Given the description of an element on the screen output the (x, y) to click on. 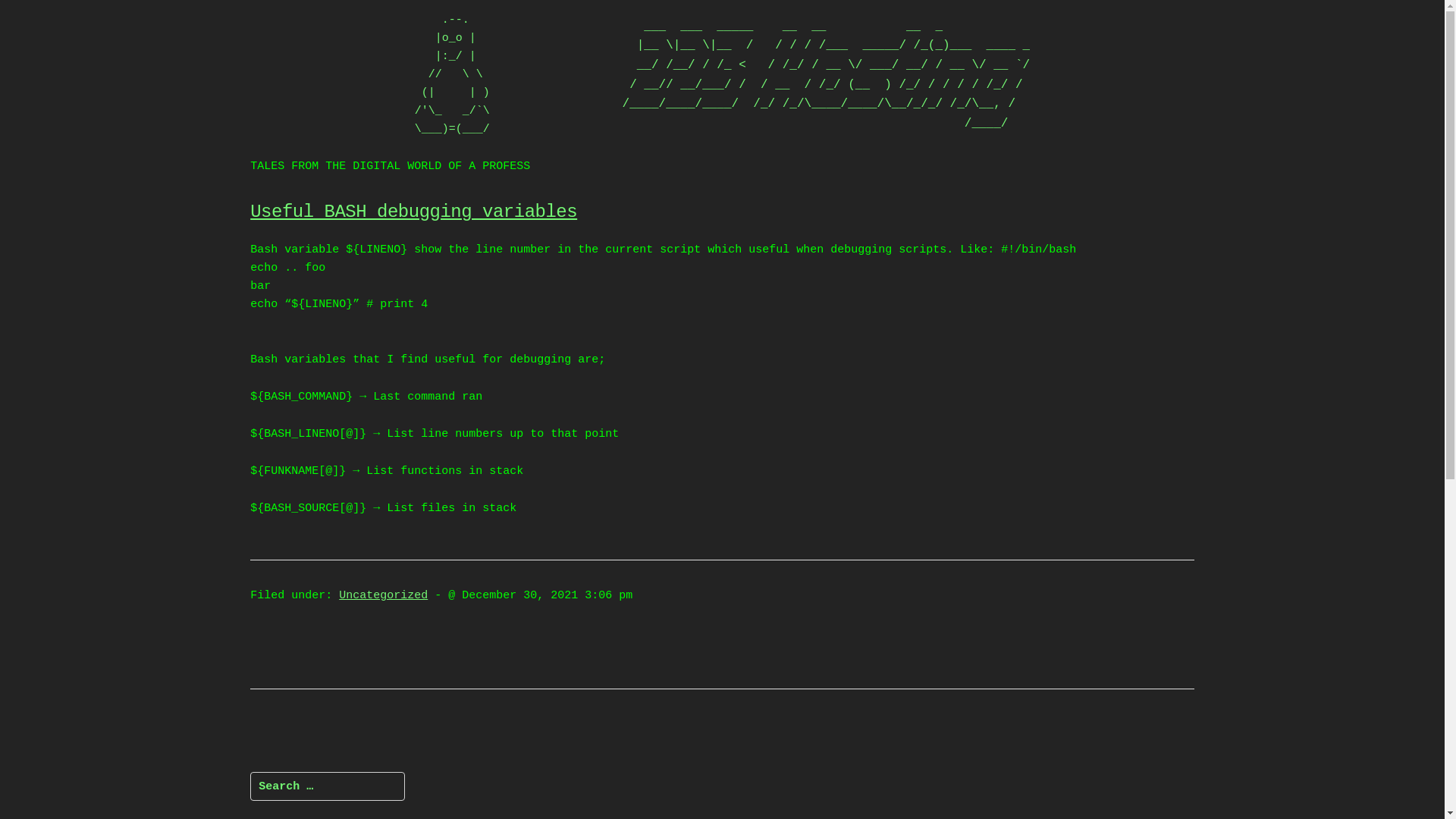
Uncategorized Element type: text (382, 595)
Useful BASH debugging variables Element type: text (413, 211)
